Given the description of an element on the screen output the (x, y) to click on. 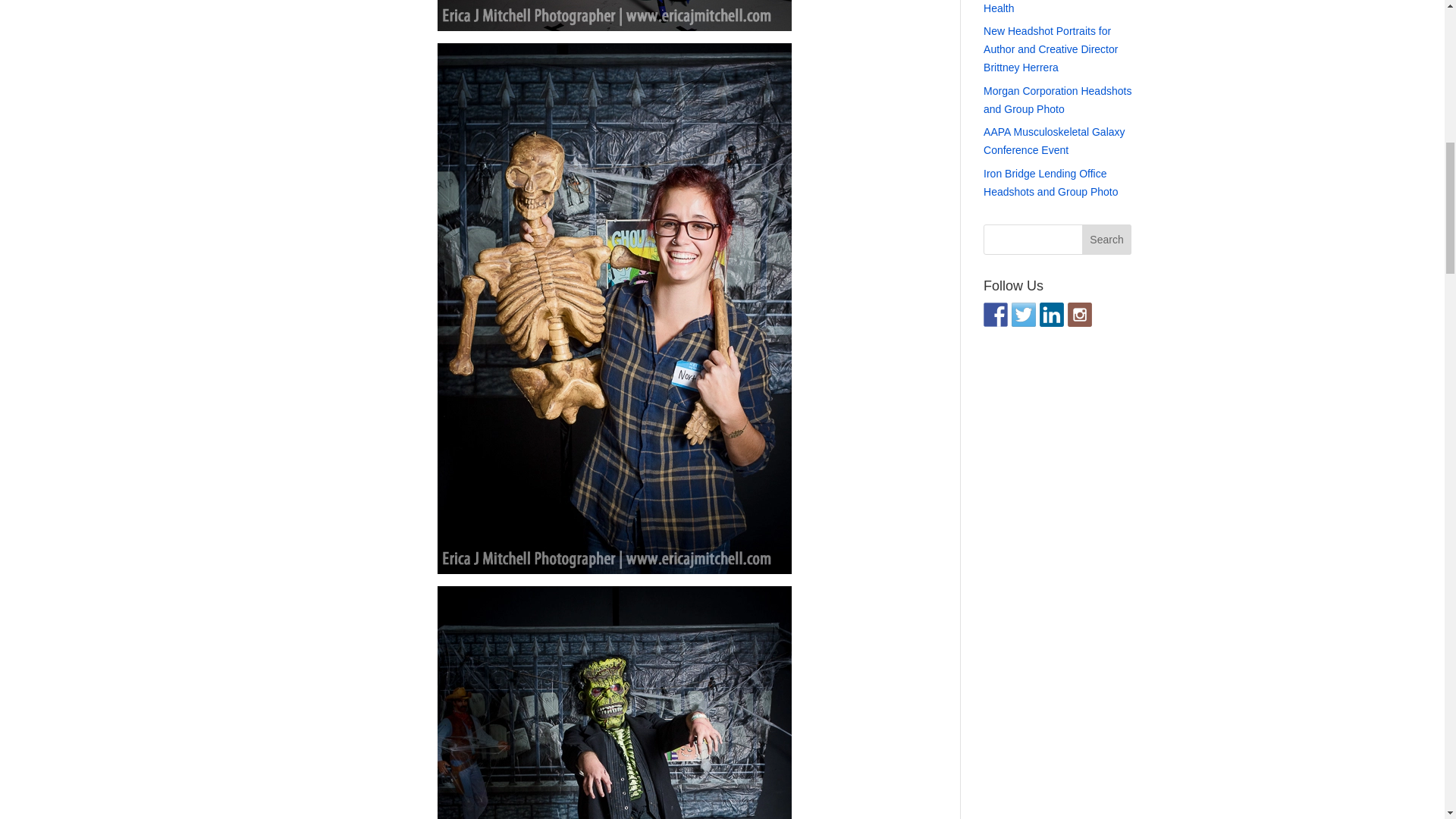
Follow us on Twitter (1023, 314)
Check out our instagram feed (1079, 314)
Search (1106, 239)
Find us on Linkedin (1051, 314)
Follow us on Facebook (995, 314)
